Given the description of an element on the screen output the (x, y) to click on. 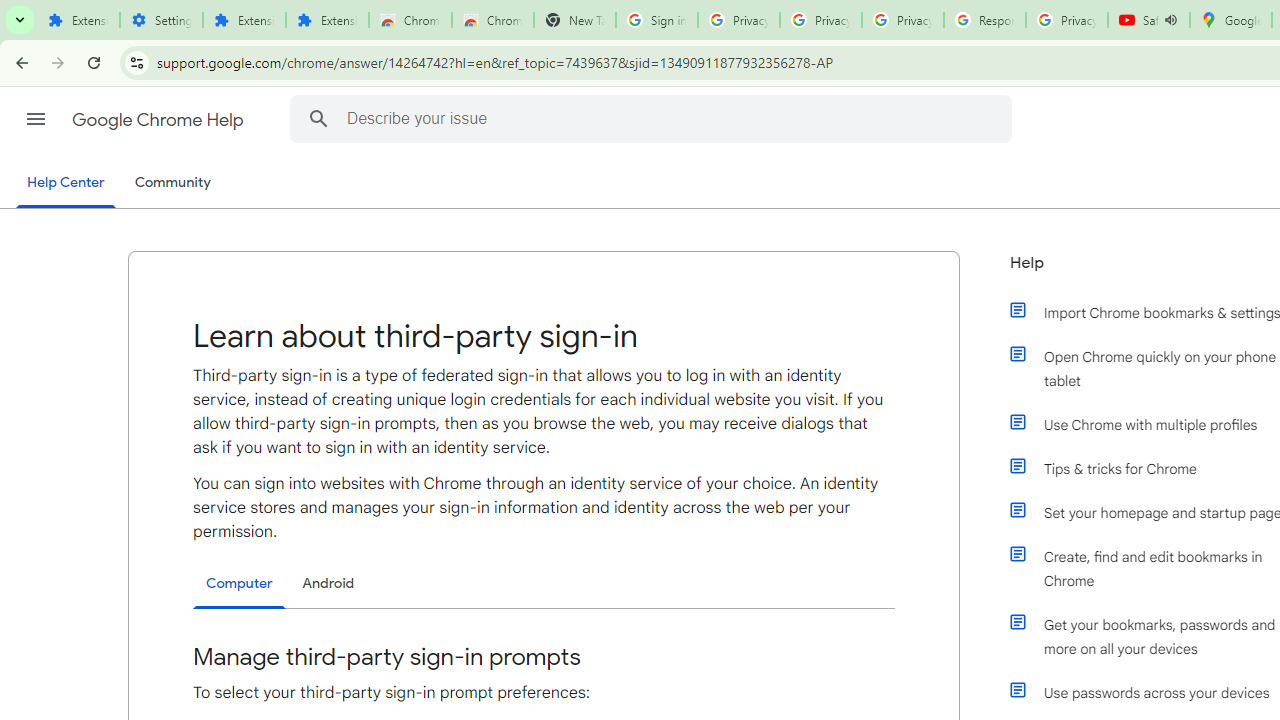
Computer (239, 584)
Settings (161, 20)
Community (171, 183)
New Tab (574, 20)
Extensions (244, 20)
Sign in - Google Accounts (656, 20)
Extensions (78, 20)
